Given the description of an element on the screen output the (x, y) to click on. 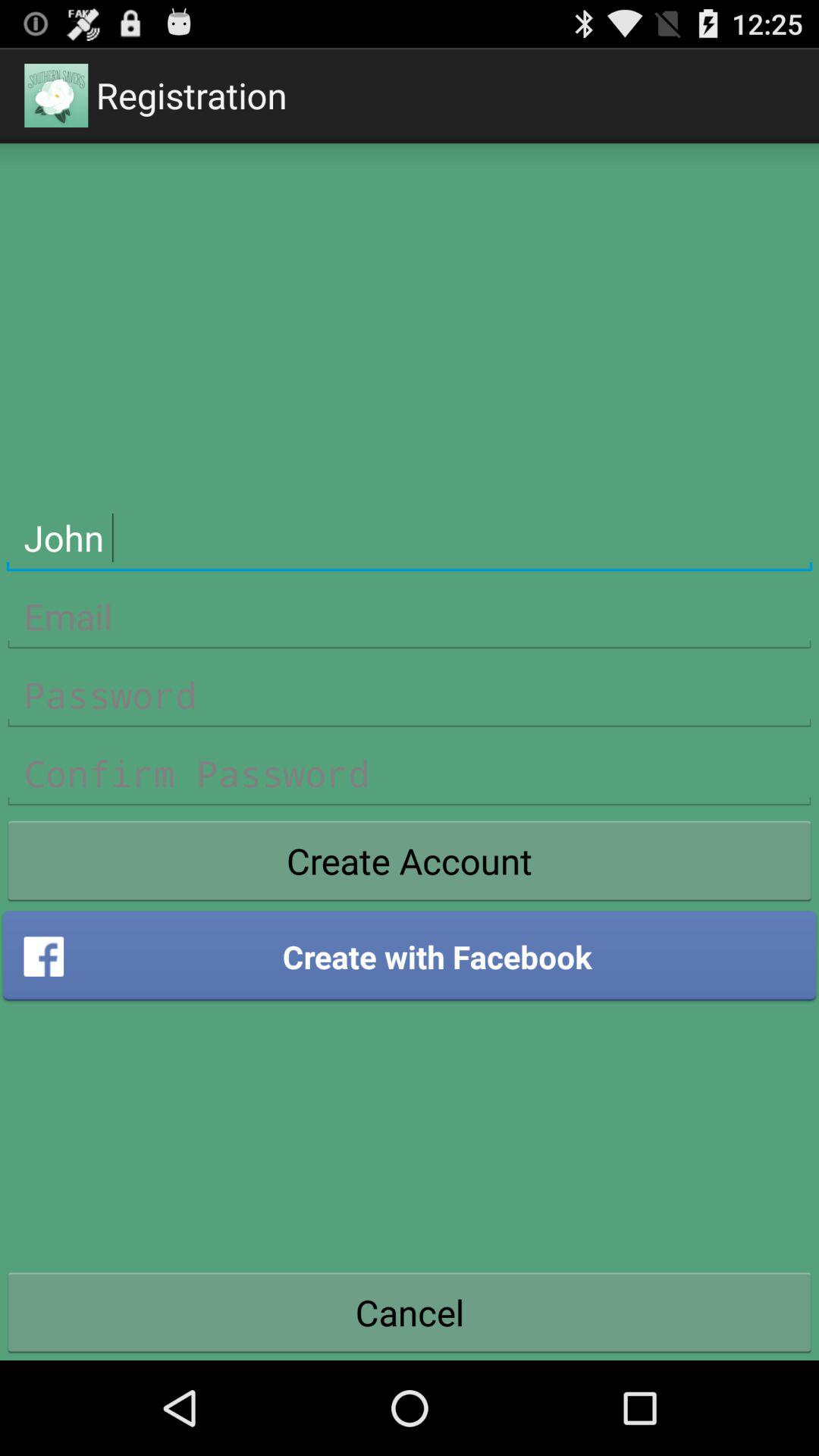
enter email address (409, 616)
